Given the description of an element on the screen output the (x, y) to click on. 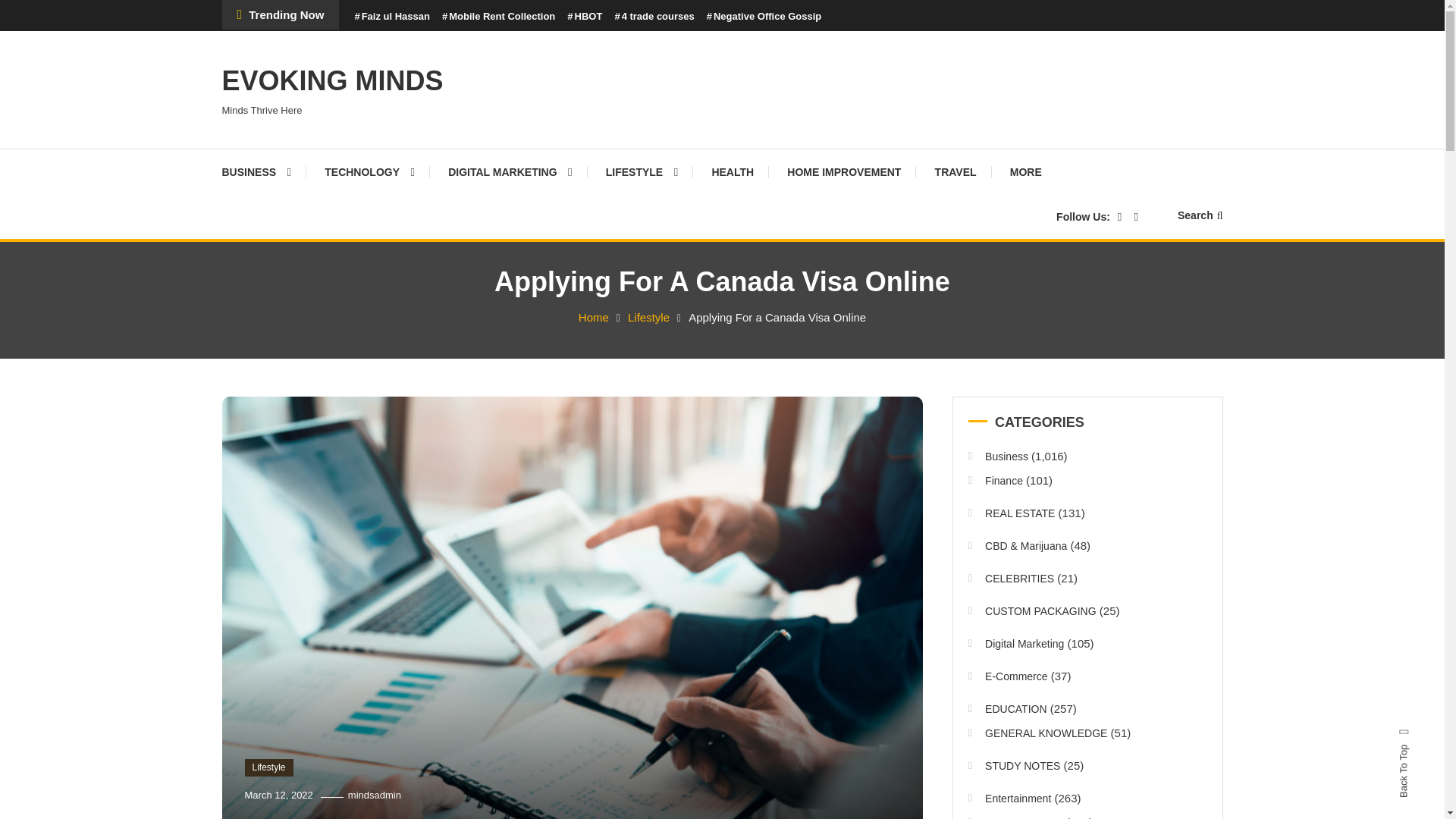
TRAVEL (955, 171)
EVOKING MINDS (331, 80)
Search (768, 432)
HEALTH (731, 171)
DIGITAL MARKETING (509, 171)
TECHNOLOGY (368, 171)
HOME IMPROVEMENT (843, 171)
Home (593, 317)
Negative Office Gossip (764, 16)
Mobile Rent Collection (498, 16)
